Given the description of an element on the screen output the (x, y) to click on. 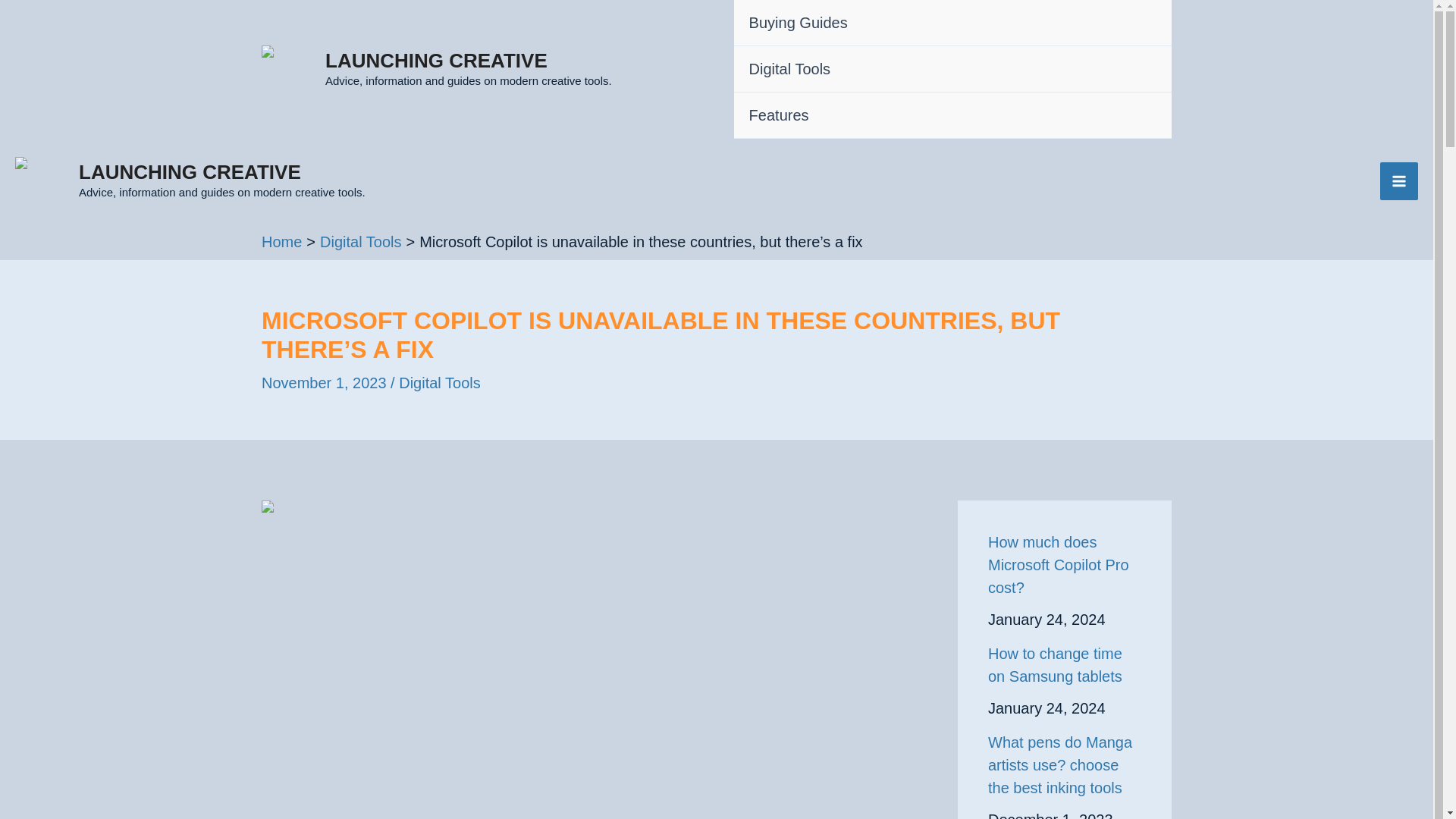
Digital Tools (439, 382)
Digital Tools (360, 241)
Digital Tools (952, 68)
Features (952, 115)
LAUNCHING CREATIVE (189, 171)
Home (281, 241)
LAUNCHING CREATIVE (435, 60)
Main Menu (1399, 180)
Buying Guides (952, 22)
